Given the description of an element on the screen output the (x, y) to click on. 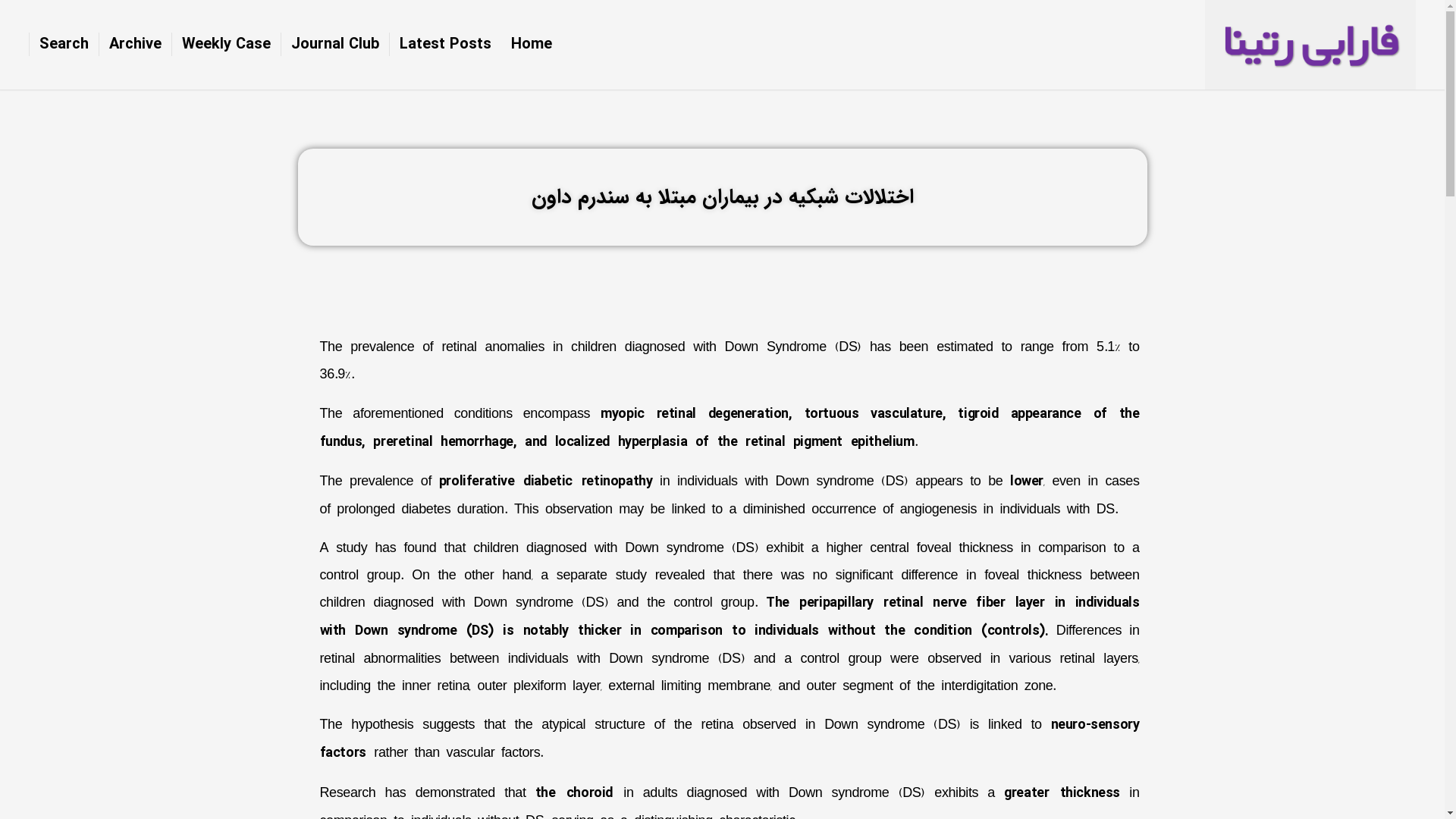
Weekly Case (215, 44)
Journal Club (324, 44)
Latest Posts (435, 44)
